Given the description of an element on the screen output the (x, y) to click on. 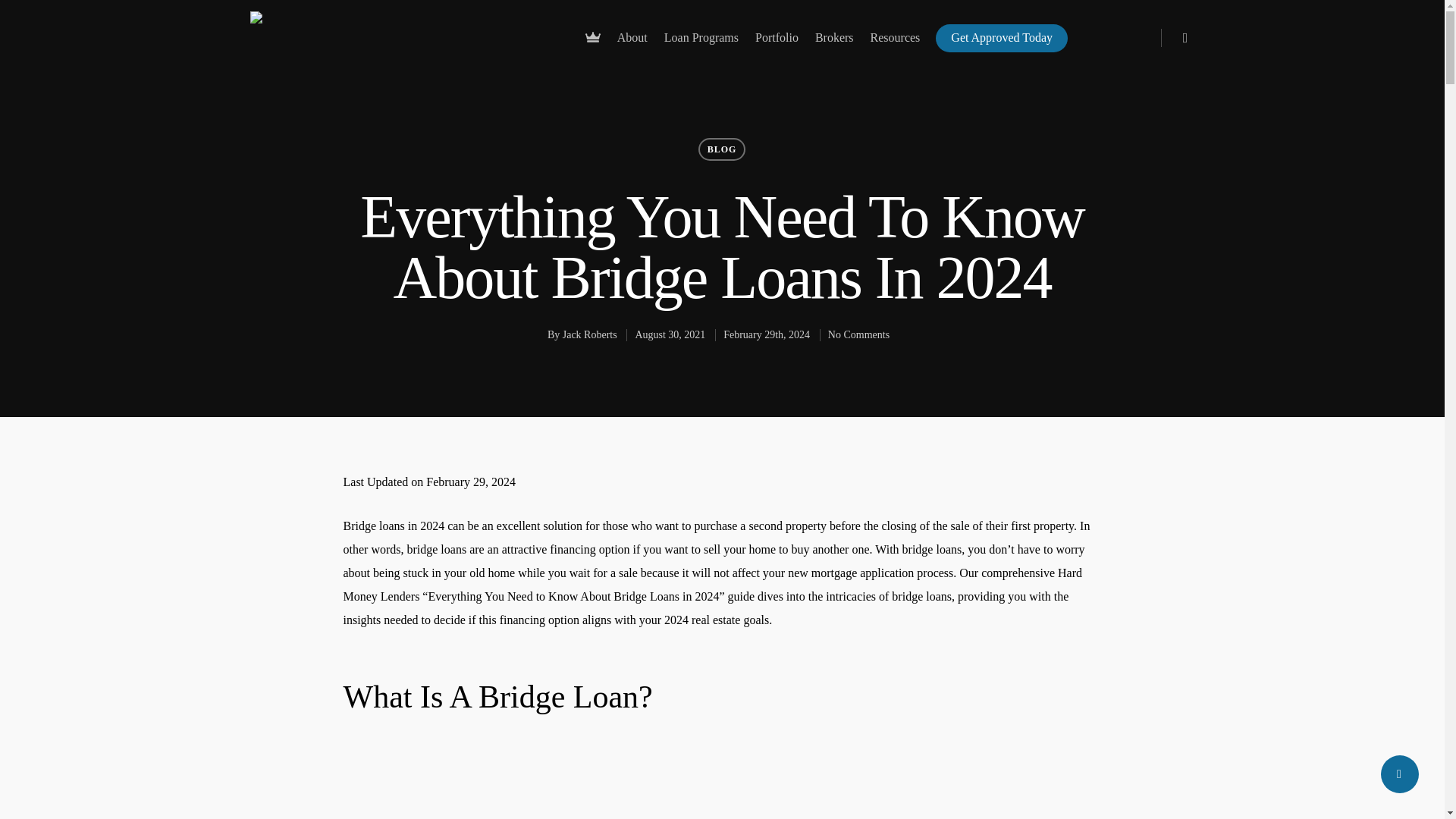
No Comments (858, 334)
Loan Programs (700, 43)
Search Lenders (1013, 305)
BLOG (721, 149)
Posts by Jack Roberts (589, 334)
Jack Roberts (589, 334)
Portfolio (777, 43)
Resources (895, 43)
Get Approved Today (1001, 43)
